Given the description of an element on the screen output the (x, y) to click on. 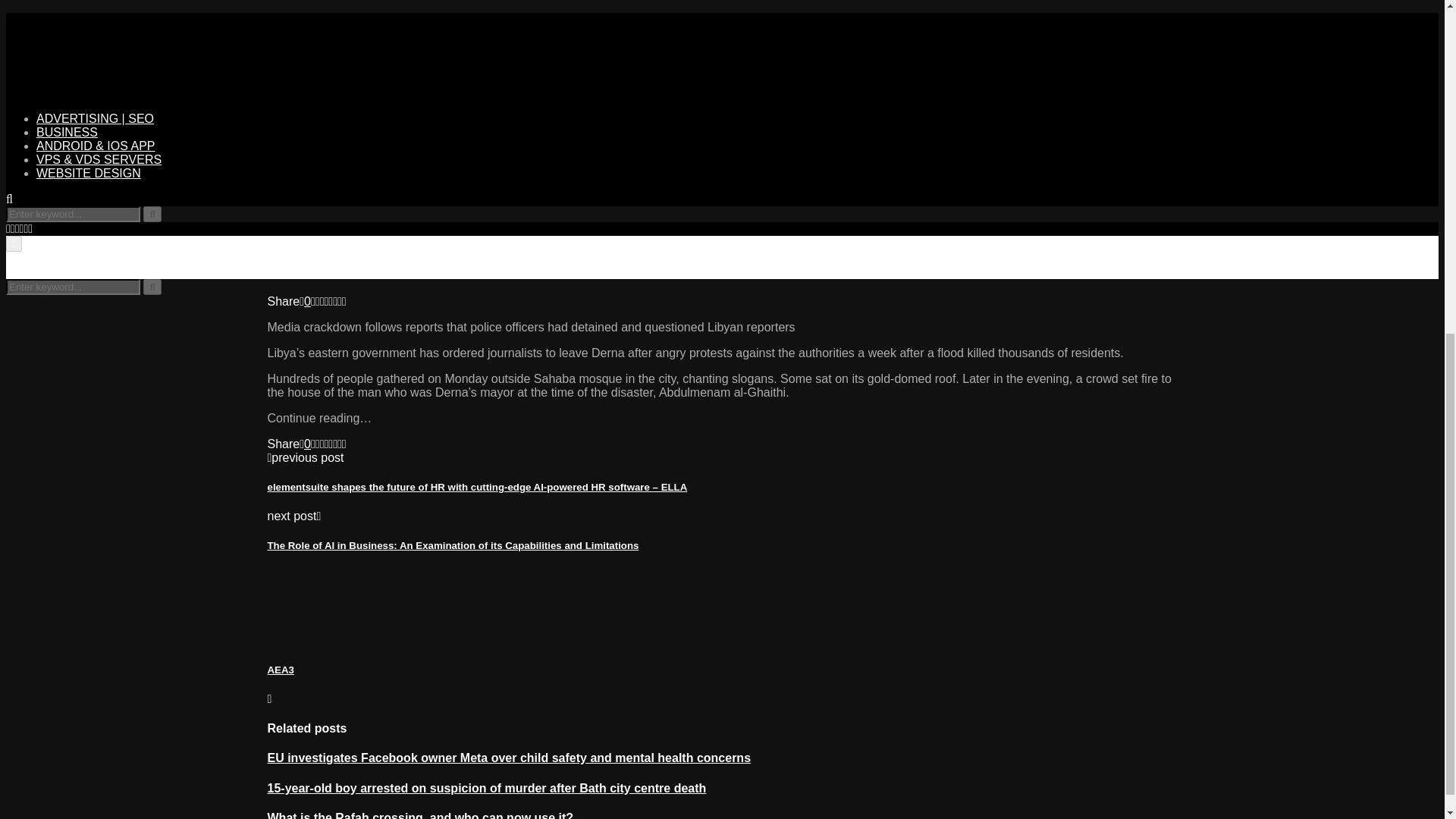
Like (305, 443)
Instagram (17, 228)
Facebook (7, 228)
WEBSITE DESIGN (88, 173)
Search (151, 213)
BUSINESS (66, 132)
Primary Menu (13, 243)
Twitter (12, 228)
Twitter (12, 228)
Pinterest (22, 228)
Behance (25, 228)
Pinterest (22, 228)
Like (305, 300)
Instagram (17, 228)
Youtube (29, 228)
